Given the description of an element on the screen output the (x, y) to click on. 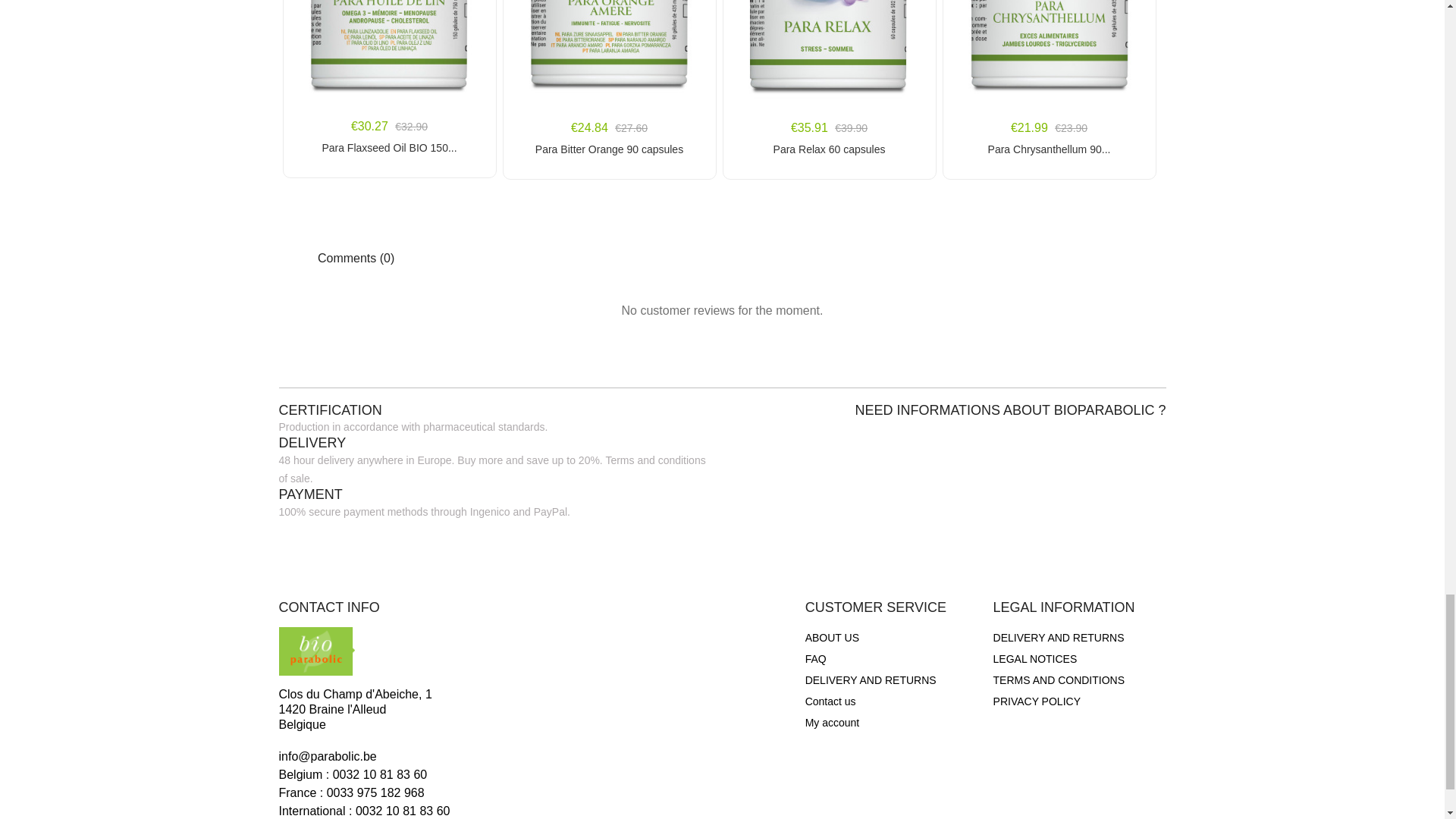
Para Chrysanthellum 90 capsules (1047, 149)
Para Flaxseed Oil BIO 150 capsules (388, 147)
Para Relax 60 capsules (828, 149)
Aide (816, 658)
Para Bitter Orange 90 capsules (608, 149)
To know more about our company (832, 637)
